Given the description of an element on the screen output the (x, y) to click on. 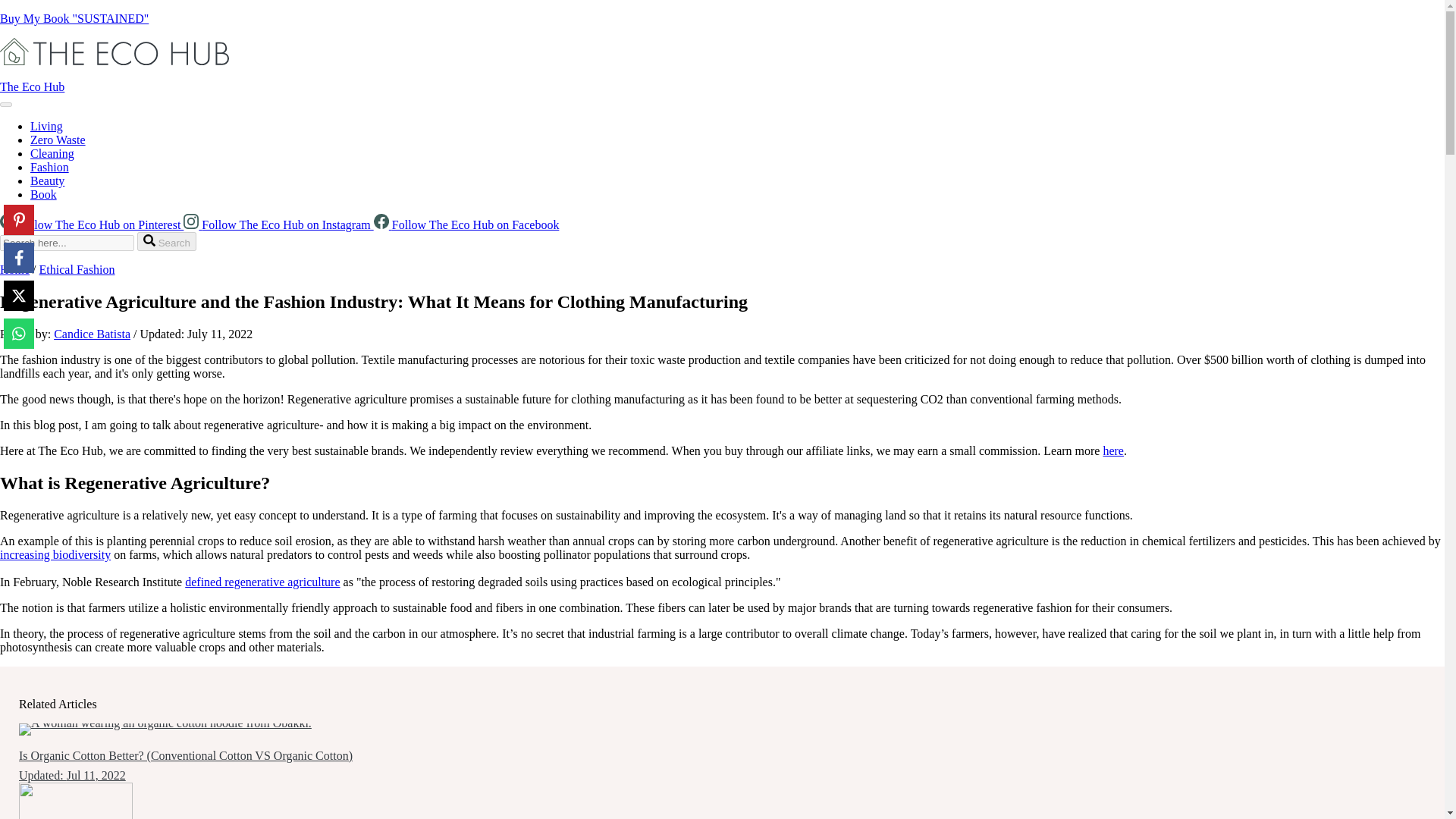
Buy My Book "SUSTAINED" (74, 18)
here (1113, 450)
Home (14, 269)
Follow The Eco Hub on Pinterest (91, 224)
Ethical Fashion (77, 269)
Follow The Eco Hub on Instagram (277, 224)
Zero Waste (57, 139)
Follow The Eco Hub on Instagram (277, 224)
Cleaning (52, 153)
increasing biodiversity (55, 554)
defined regenerative agriculture (261, 581)
Candice Batista (92, 333)
Follow The Eco Hub on Facebook (466, 224)
Follow The Eco Hub on Pinterest (91, 224)
Search (166, 240)
